Given the description of an element on the screen output the (x, y) to click on. 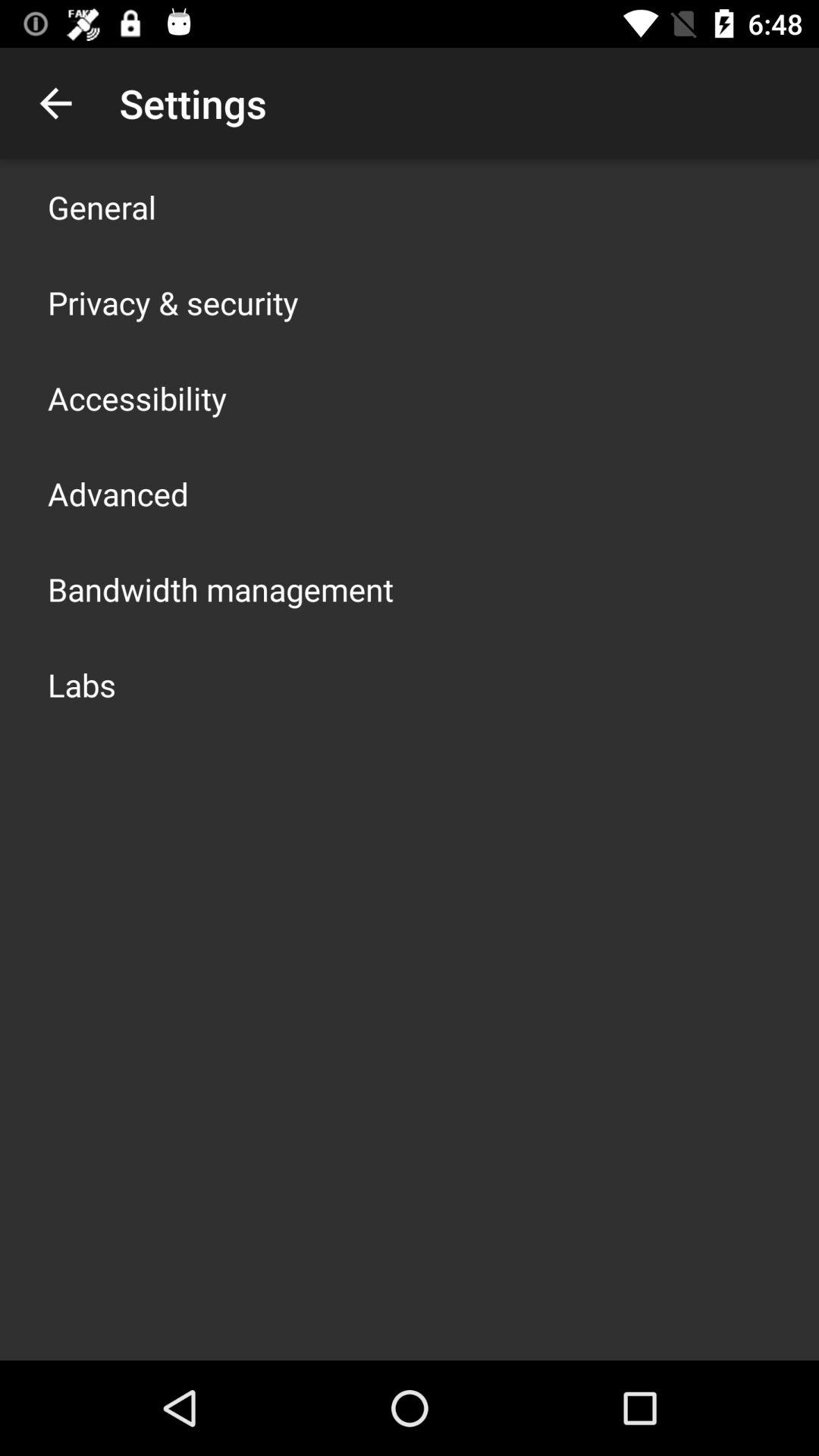
press app below the advanced item (220, 588)
